Given the description of an element on the screen output the (x, y) to click on. 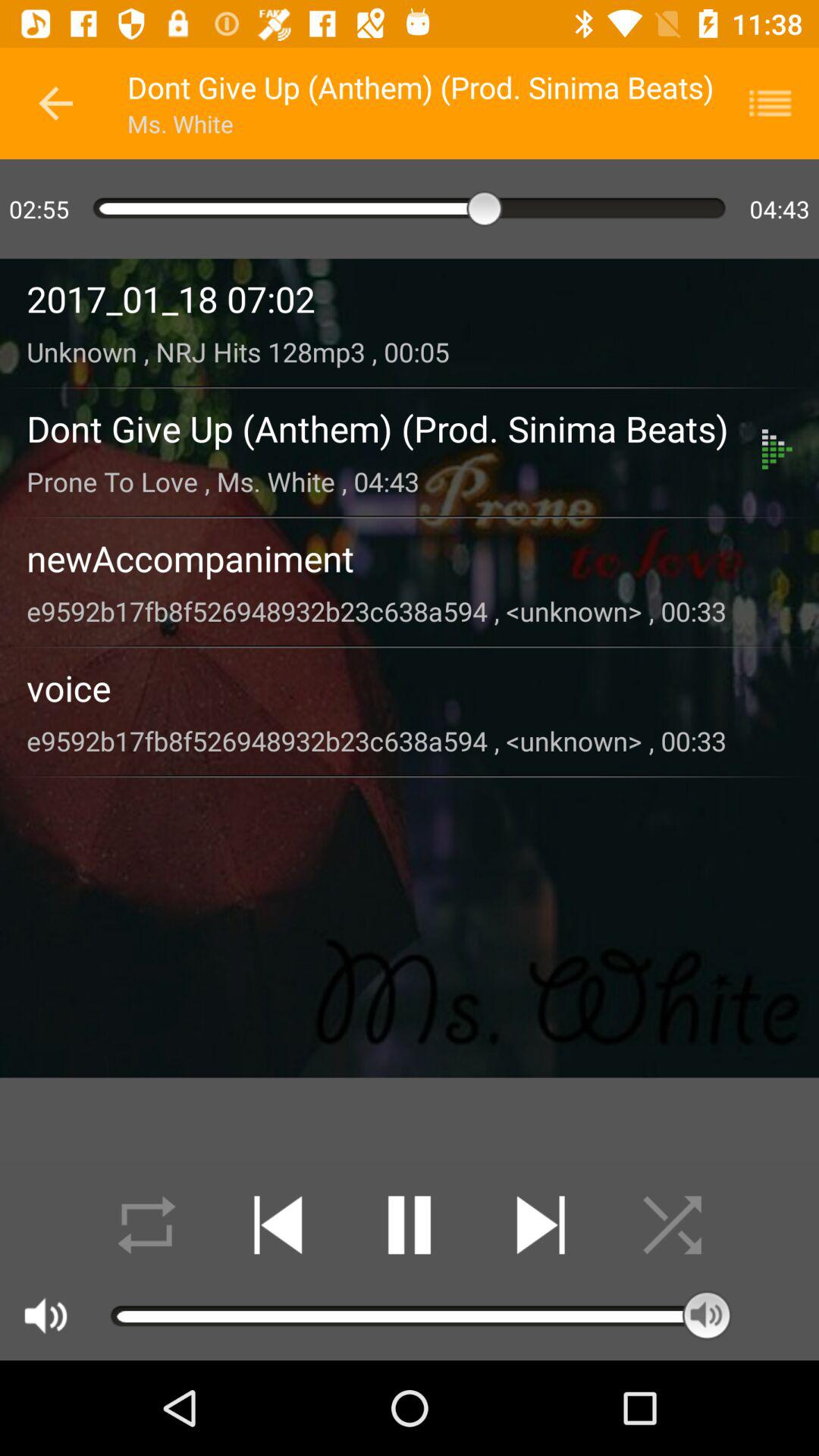
pause music (409, 1224)
